Given the description of an element on the screen output the (x, y) to click on. 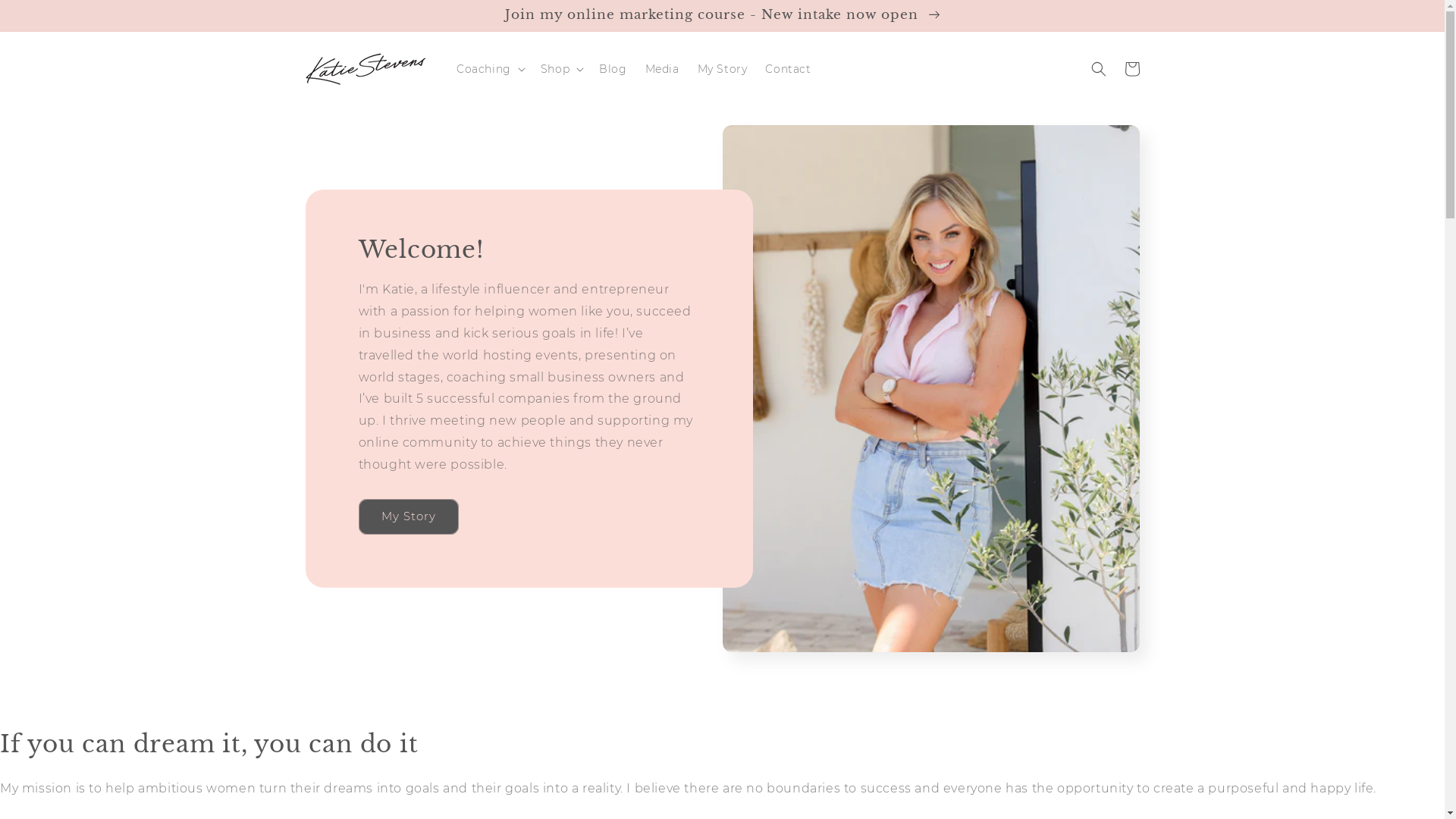
Contact Element type: text (787, 68)
My Story Element type: text (722, 68)
My Story Element type: text (407, 516)
Media Element type: text (662, 68)
Join my online marketing course - New intake now open Element type: text (722, 15)
Blog Element type: text (612, 68)
Cart Element type: text (1131, 68)
